Given the description of an element on the screen output the (x, y) to click on. 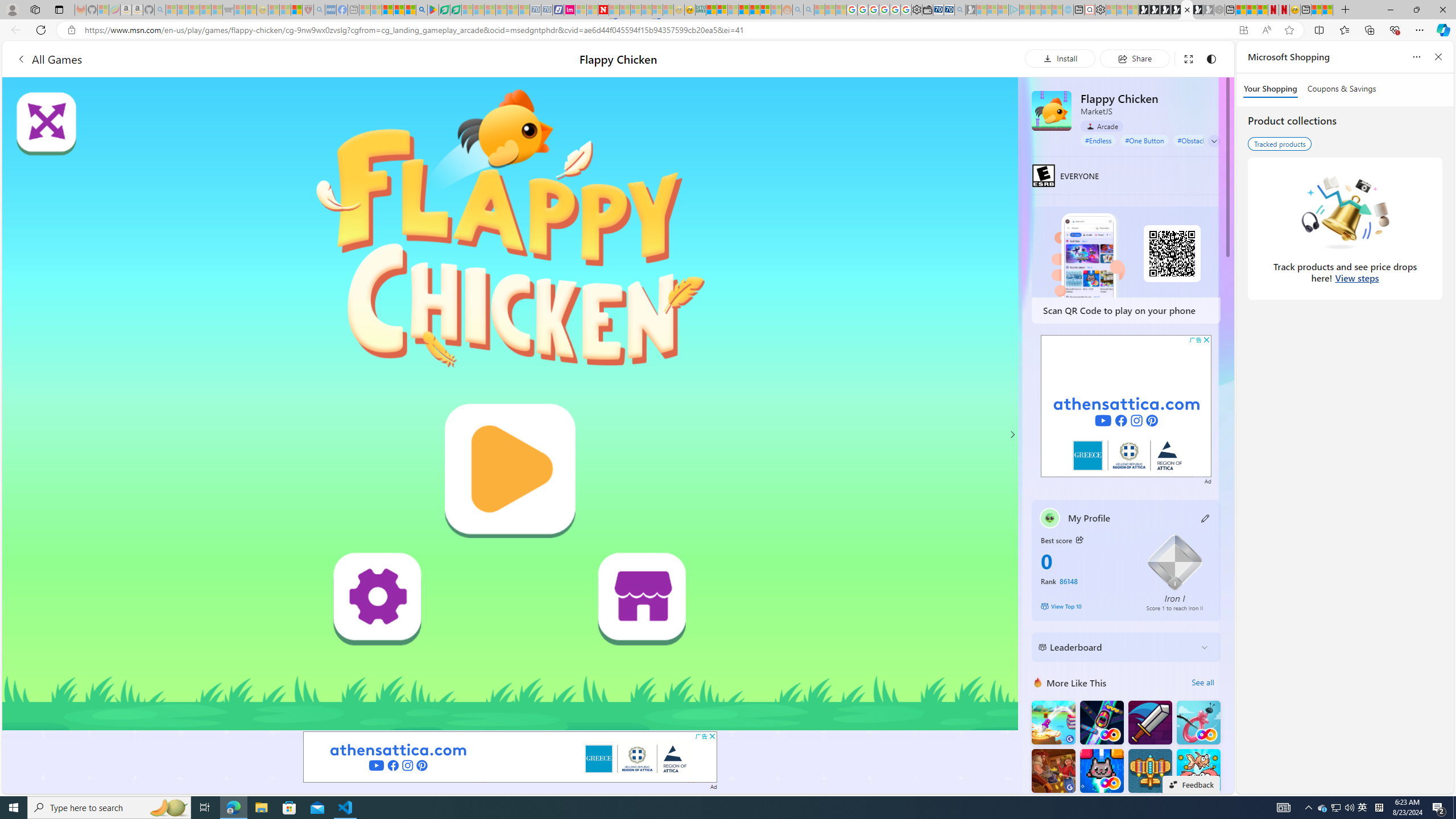
See all (1202, 682)
All Games (49, 58)
Local - MSN (296, 9)
Class: button (1079, 539)
Jobs - lastminute.com Investor Portal (569, 9)
AutomationID: canvas (509, 403)
